Given the description of an element on the screen output the (x, y) to click on. 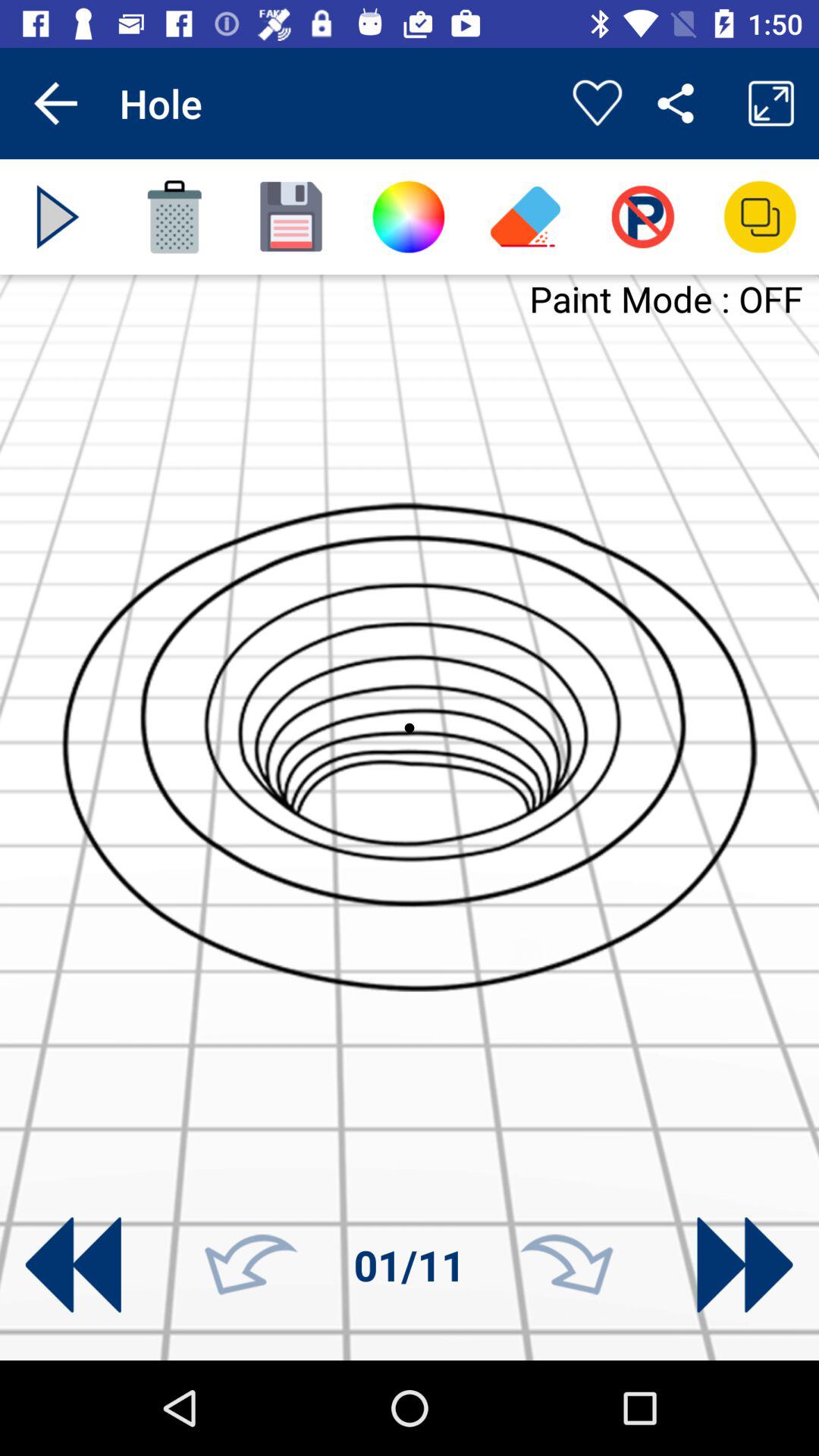
erase the drawing (174, 216)
